Given the description of an element on the screen output the (x, y) to click on. 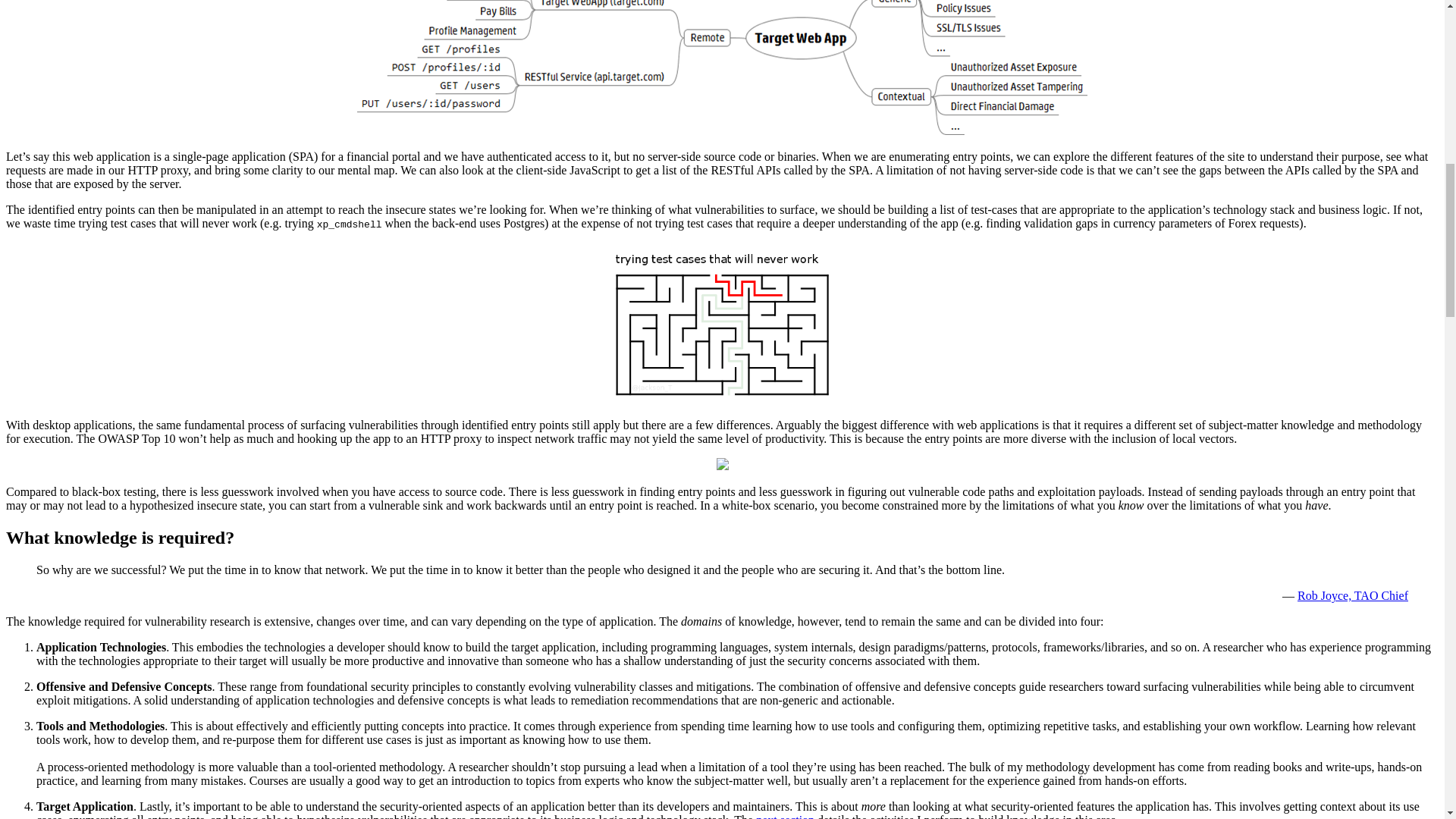
Rob Joyce, TAO Chief (1352, 594)
next section (784, 816)
